Given the description of an element on the screen output the (x, y) to click on. 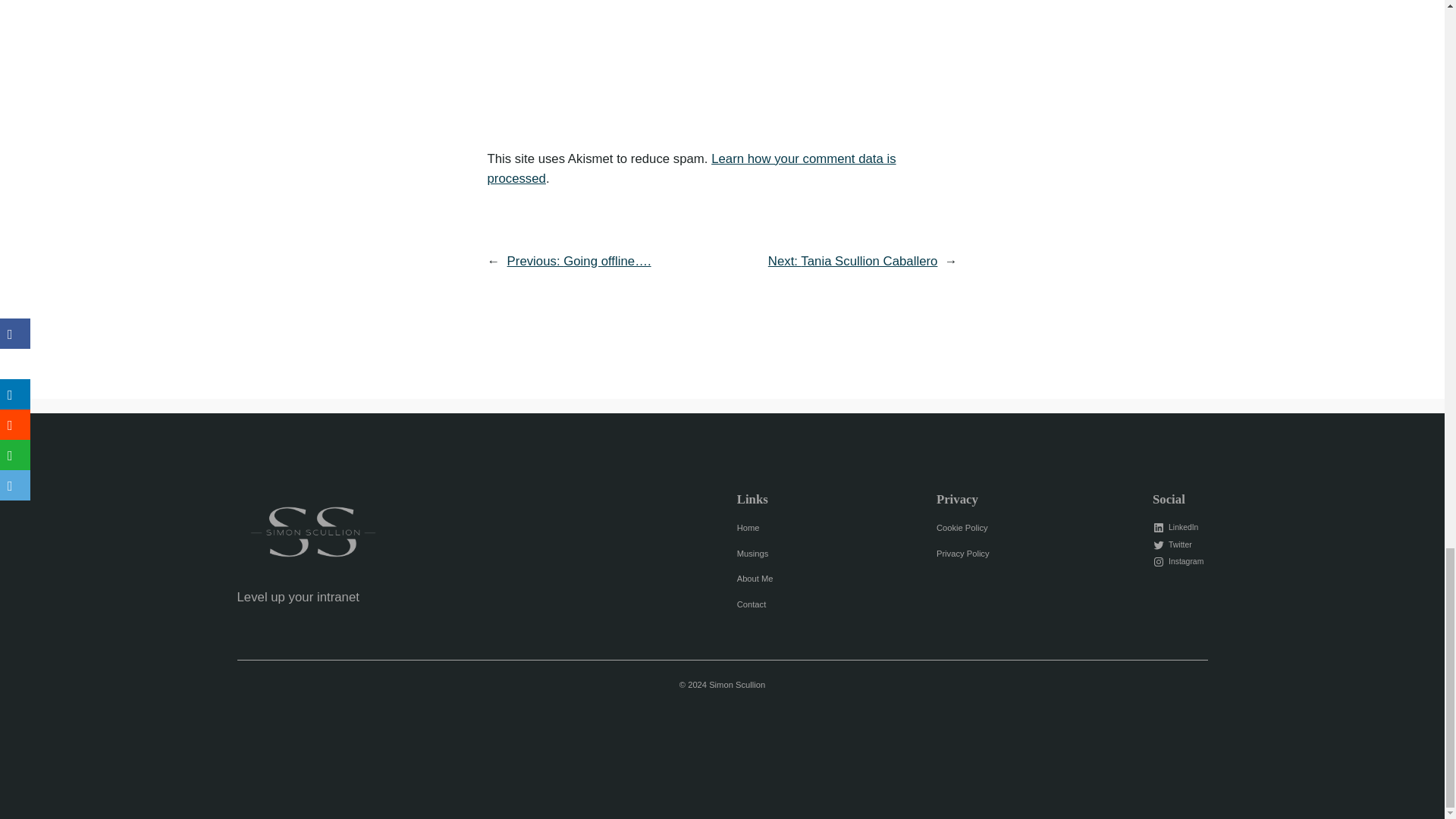
Contact (751, 604)
Cookie Policy (962, 527)
Privacy Policy (963, 553)
Home (748, 527)
Comment Form (721, 56)
Twitter (1174, 544)
About Me (754, 578)
Learn how your comment data is processed (690, 168)
Musings (752, 553)
LinkedIn (1177, 527)
